Given the description of an element on the screen output the (x, y) to click on. 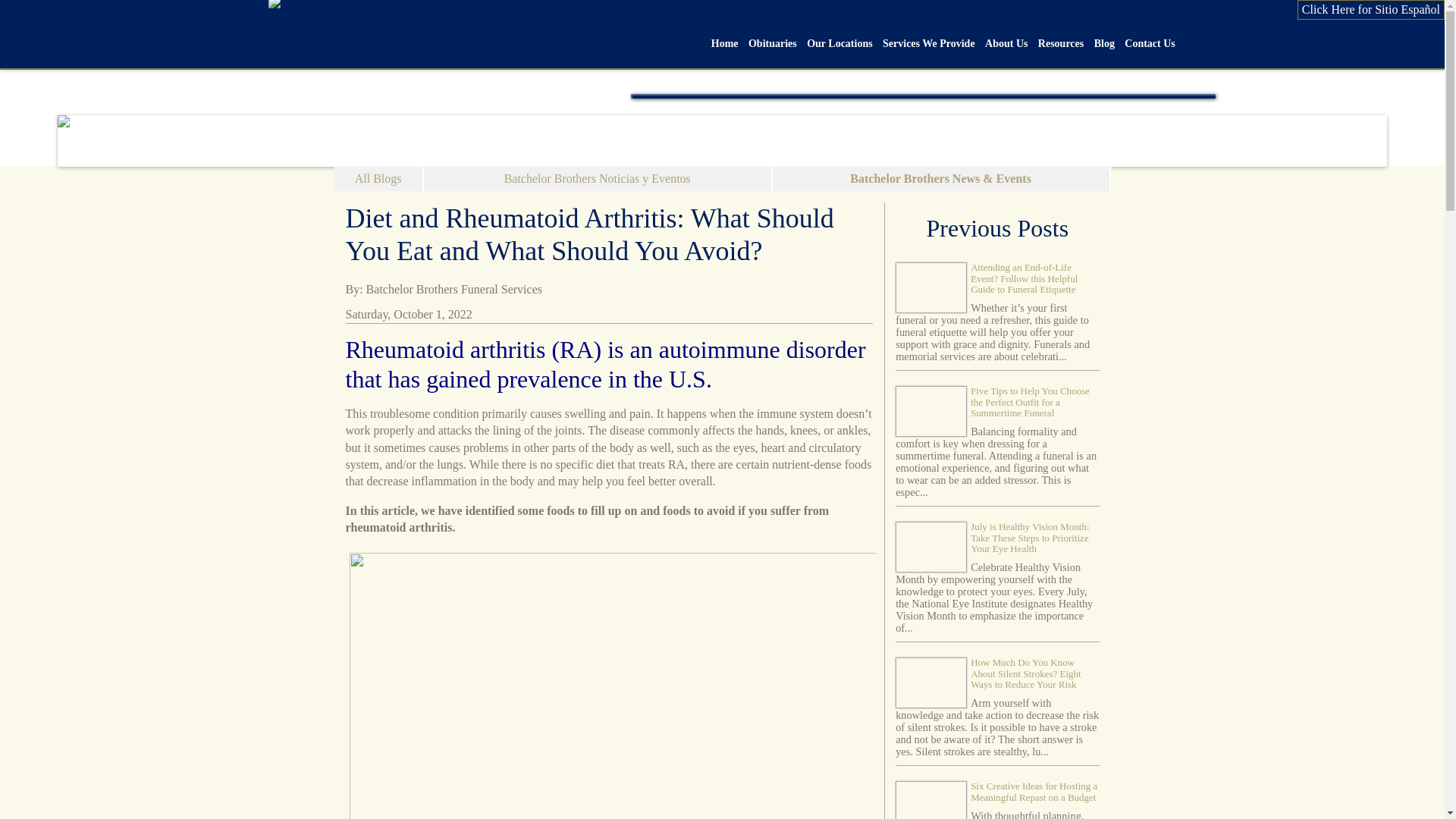
Our Locations (840, 39)
Batchelor Brothers Noticias y Eventos (597, 178)
All Blogs (377, 178)
Home (724, 39)
Obituaries (772, 39)
Contact Us (1150, 39)
Services We Provide (927, 39)
Resources (1060, 39)
About Us (1005, 39)
